Given the description of an element on the screen output the (x, y) to click on. 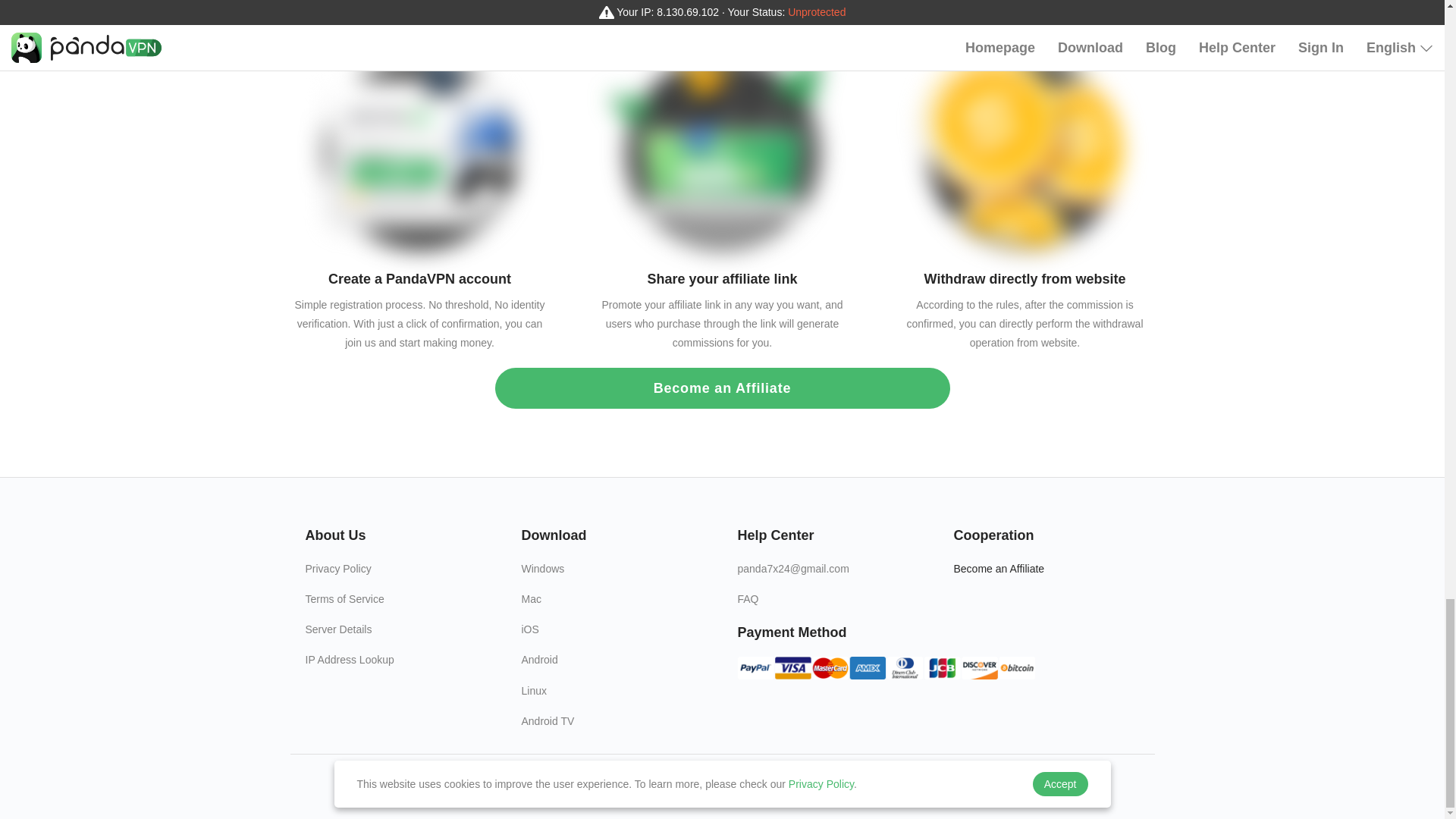
Privacy Policy (397, 562)
Windows (614, 562)
Terms of Service (397, 593)
Mac (614, 593)
IP Address Lookup (397, 654)
Become an Affiliate (722, 387)
Android (614, 654)
Linux (614, 685)
Server Details (397, 624)
FAQ (829, 593)
iOS (614, 624)
Become an Affiliate (1046, 562)
Android TV (614, 716)
